Given the description of an element on the screen output the (x, y) to click on. 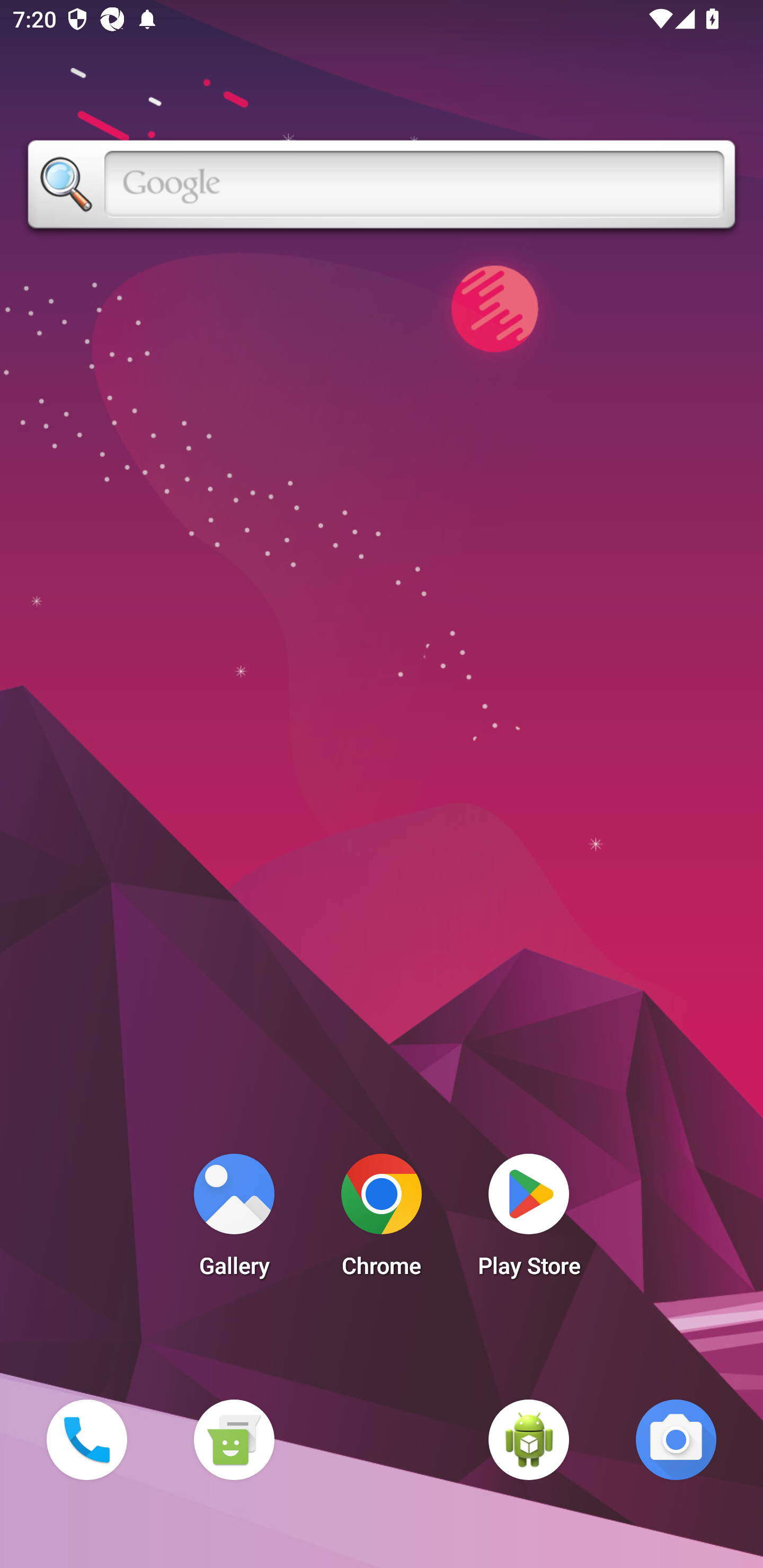
Gallery (233, 1220)
Chrome (381, 1220)
Play Store (528, 1220)
Phone (86, 1439)
Messaging (233, 1439)
WebView Browser Tester (528, 1439)
Camera (676, 1439)
